Given the description of an element on the screen output the (x, y) to click on. 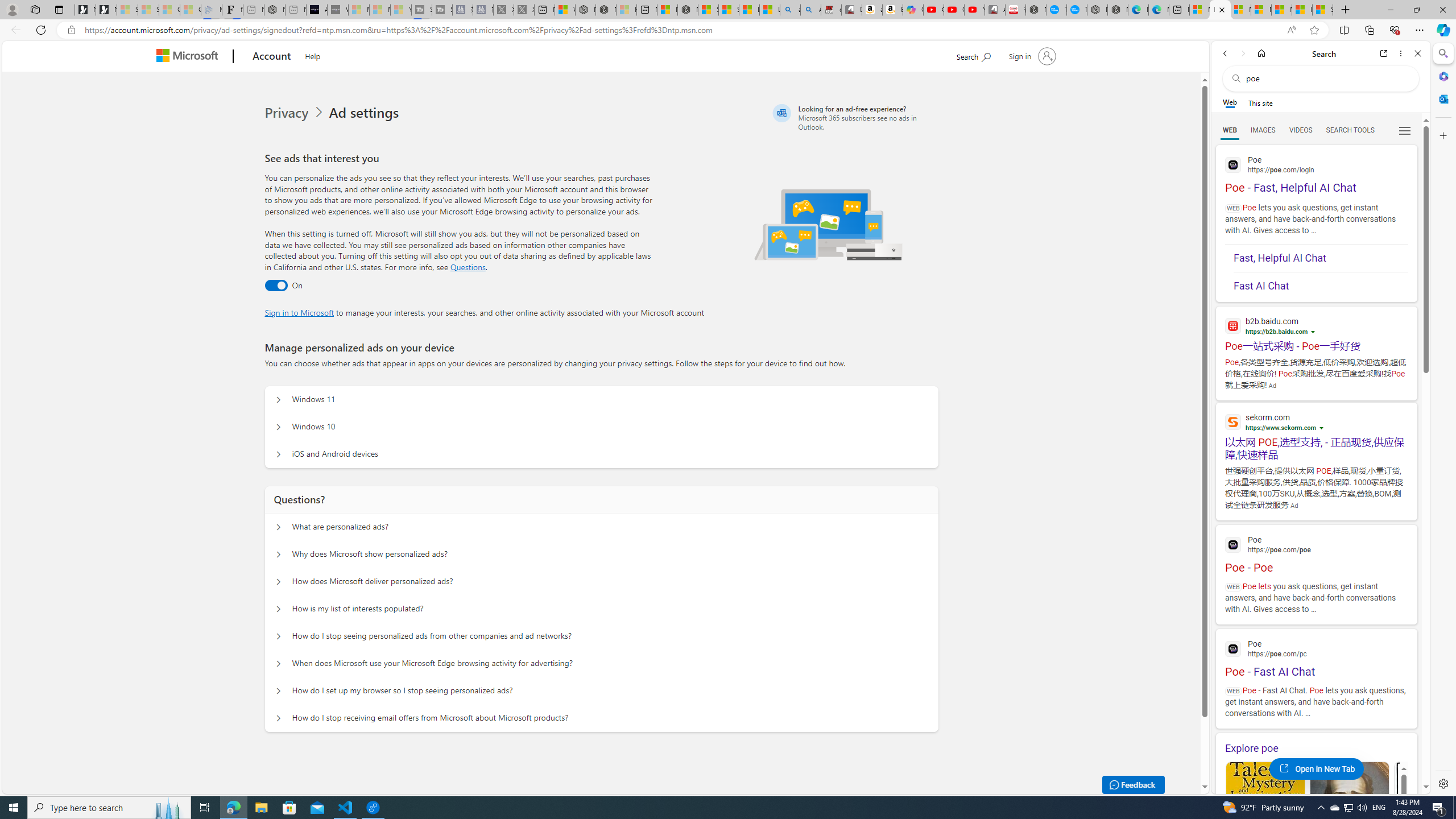
The most popular Google 'how to' searches (1076, 9)
Poe - Fast, Helpful AI Chat (1315, 173)
Privacy (295, 112)
SEARCH TOOLS (1350, 130)
Outlook (1442, 98)
Microsoft Start - Sleeping (379, 9)
